Given the description of an element on the screen output the (x, y) to click on. 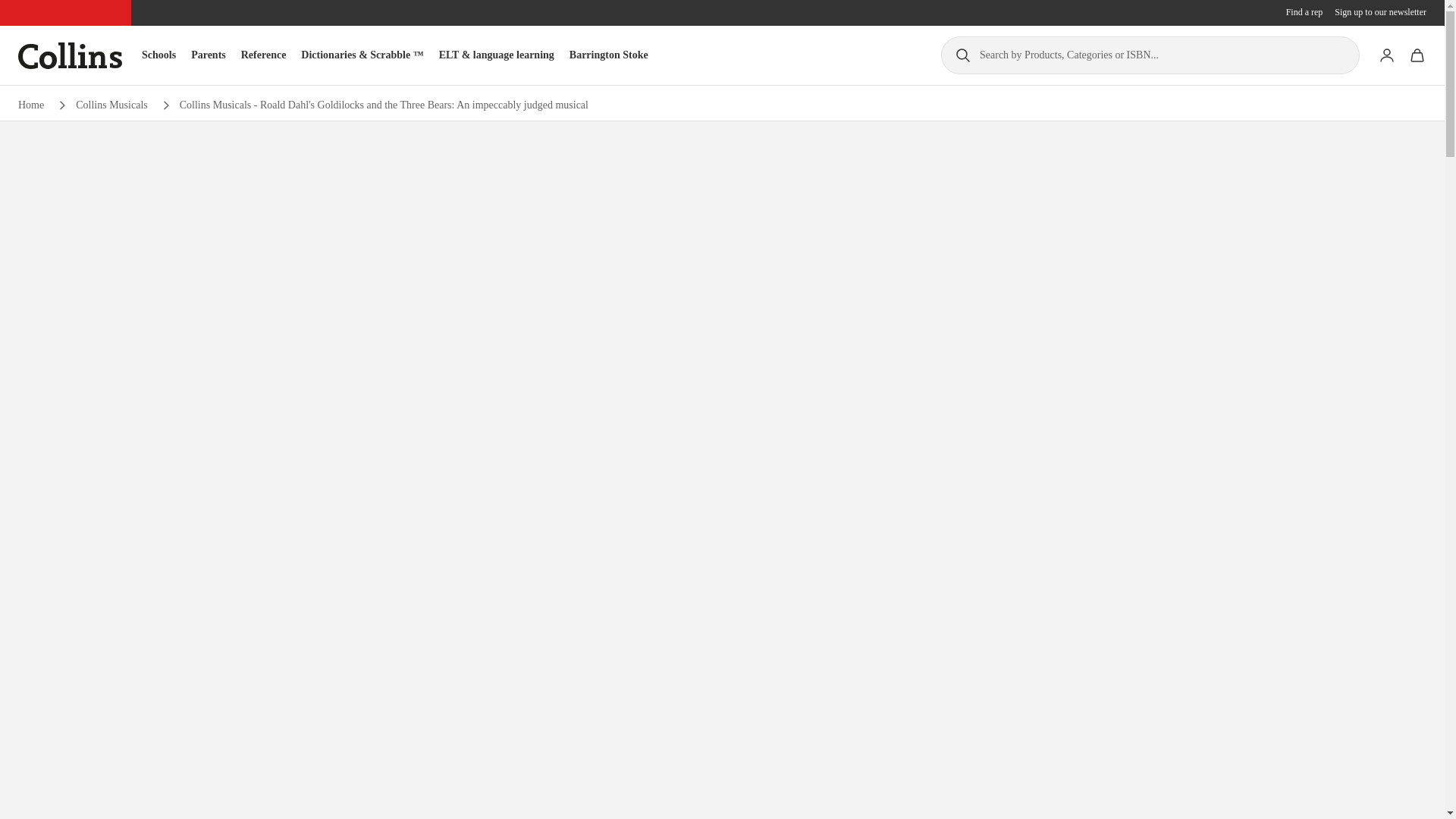
Schools (158, 55)
Parents (208, 55)
Barrington Stoke (608, 55)
Account (1386, 55)
Read all about Collins Musicals (111, 105)
Collins (69, 55)
Find a rep (1304, 11)
Home (30, 105)
Sign up to our newsletter (1380, 11)
